Given the description of an element on the screen output the (x, y) to click on. 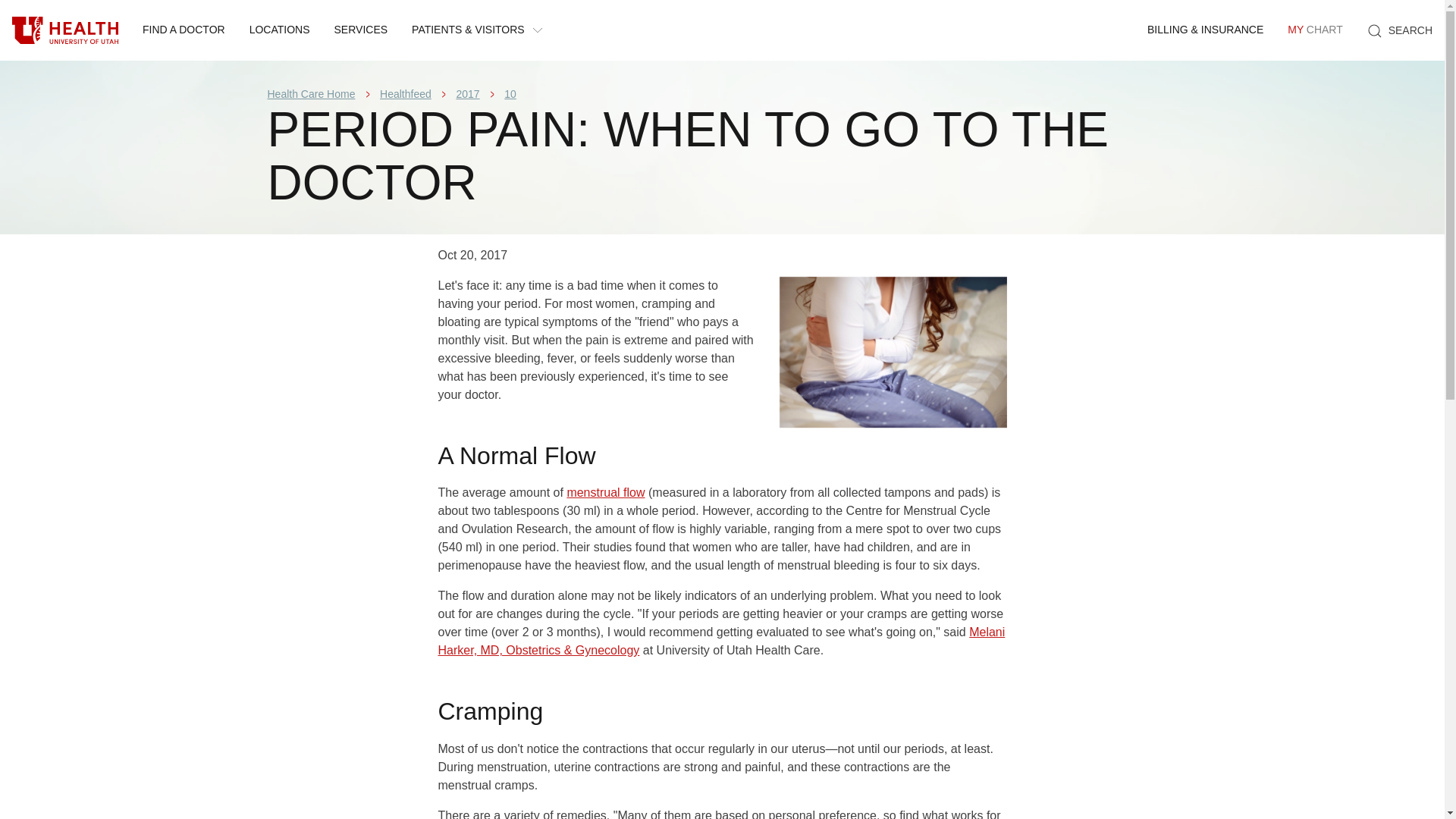
2017 (467, 93)
Skip to main content (1314, 30)
University of Utah Health logo (184, 30)
menstrual flow (65, 30)
Friday, October 20, 2017 - 00:00 (605, 492)
LOCATIONS (473, 254)
Healthfeed (279, 30)
Health Care Home (405, 93)
10 (310, 93)
SEARCH (509, 93)
SERVICES (1399, 30)
